Given the description of an element on the screen output the (x, y) to click on. 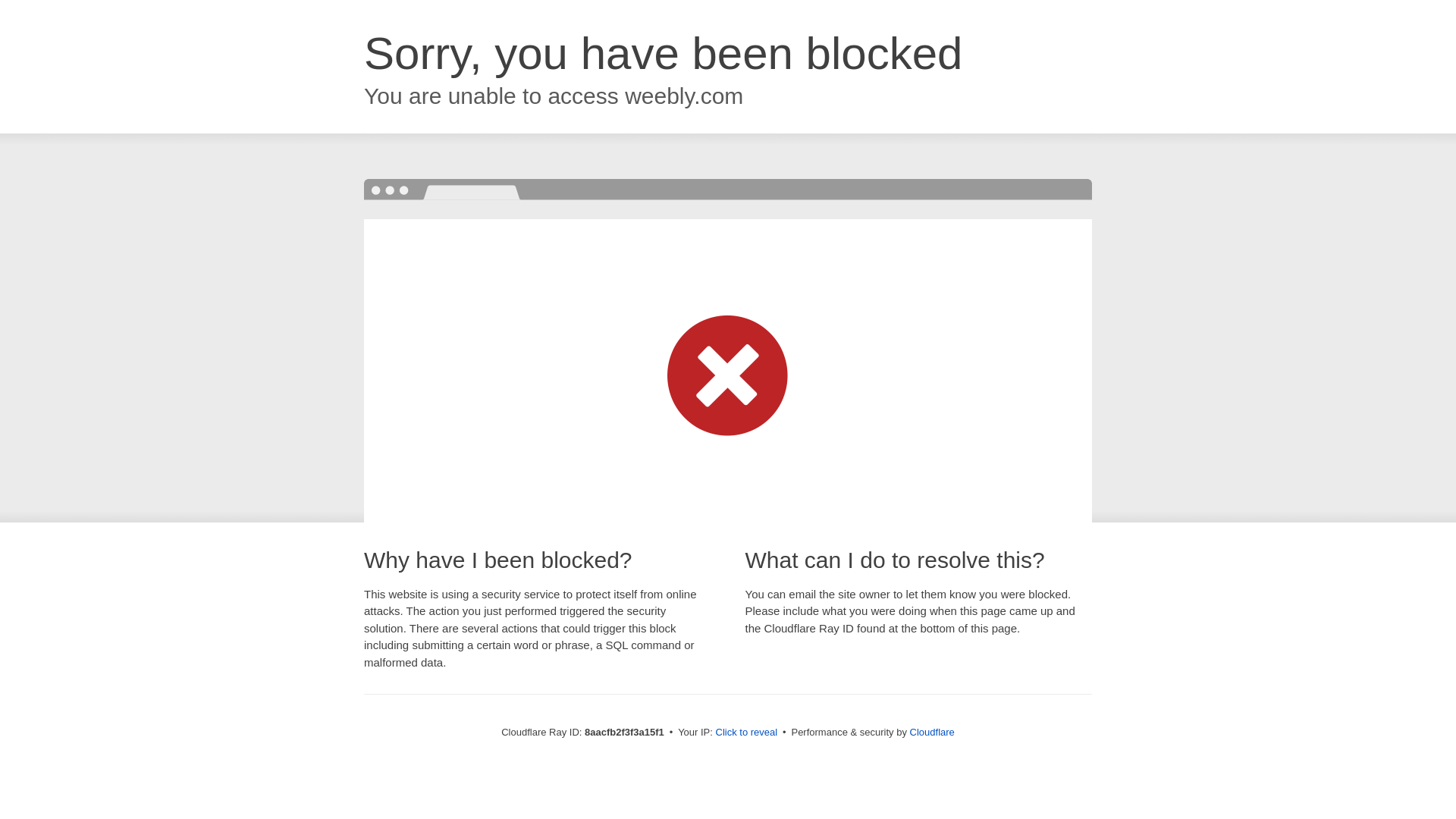
Cloudflare (932, 731)
Click to reveal (746, 732)
